Given the description of an element on the screen output the (x, y) to click on. 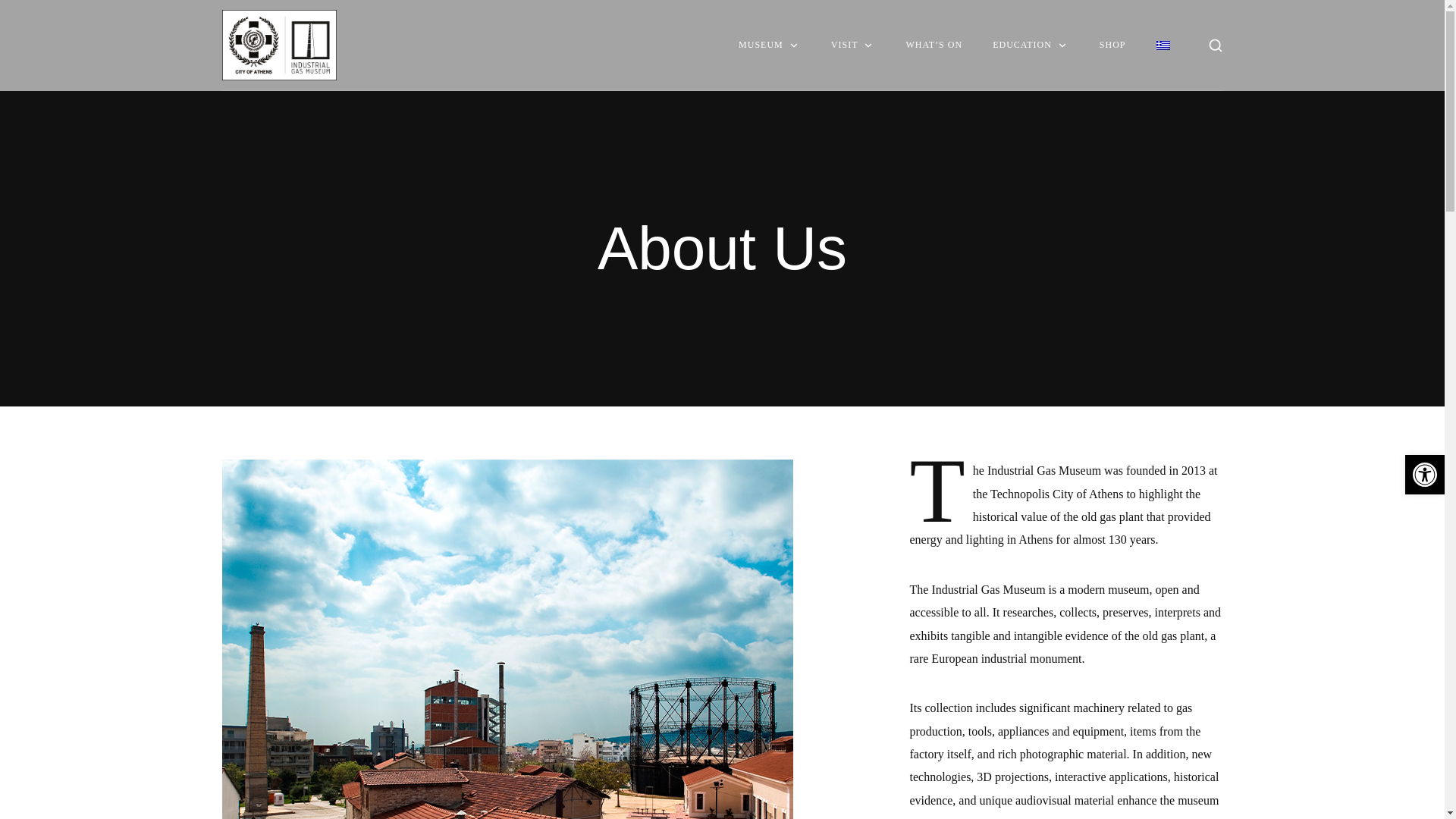
MUSEUM (769, 45)
Accessibility Tools (1424, 474)
EDUCATION (1030, 45)
